Given the description of an element on the screen output the (x, y) to click on. 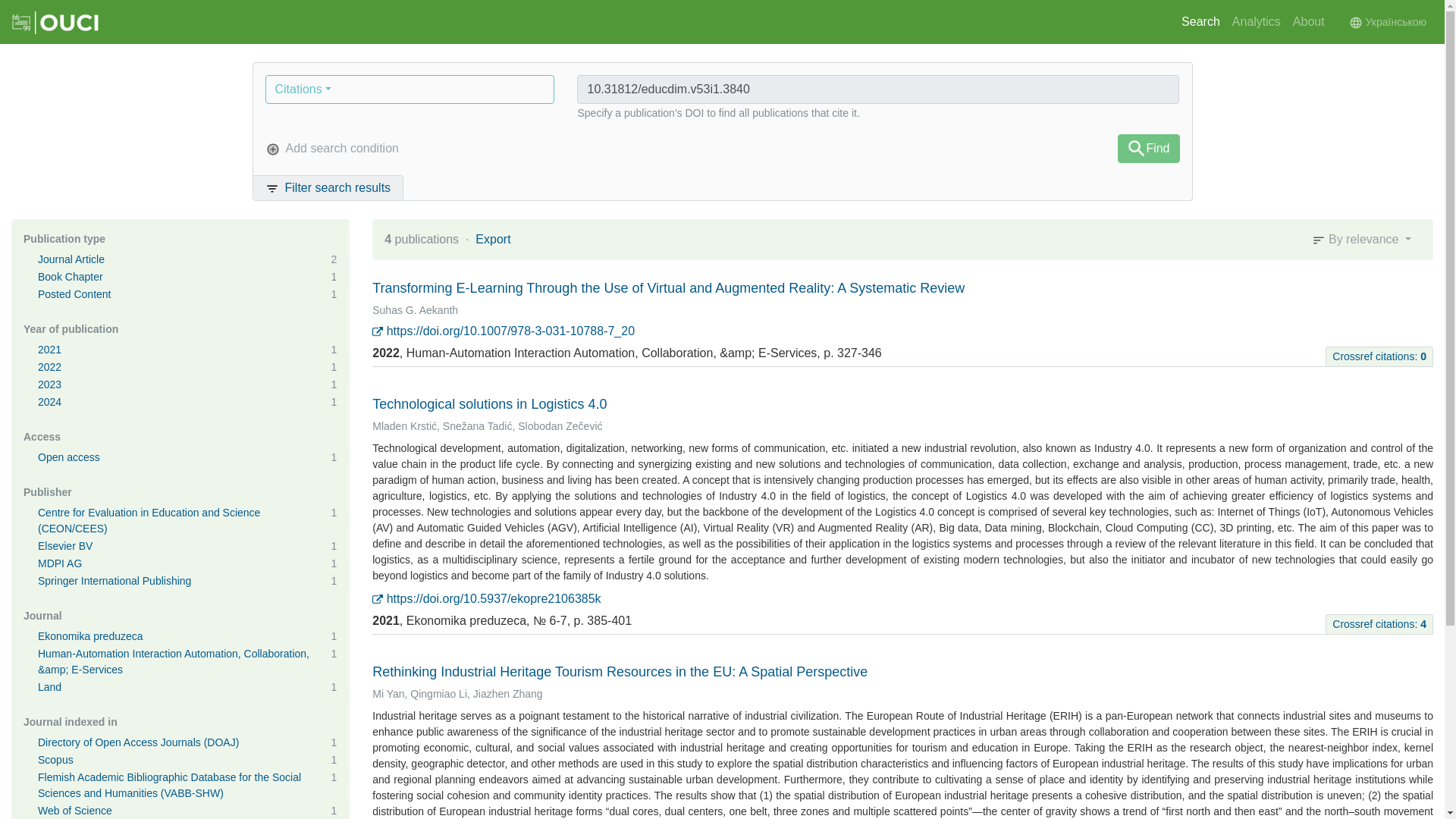
Posted Content (74, 294)
Ekonomika preduzeca (89, 635)
Springer International Publishing (113, 580)
Find (1148, 148)
Open access (68, 457)
Citations (409, 89)
Filter search results (327, 187)
2021 (49, 349)
Book Chapter (70, 276)
Add search condition (336, 148)
Search (1199, 21)
Elsevier BV (65, 545)
Land (49, 686)
MDPI AG (59, 563)
About (1308, 21)
